Given the description of an element on the screen output the (x, y) to click on. 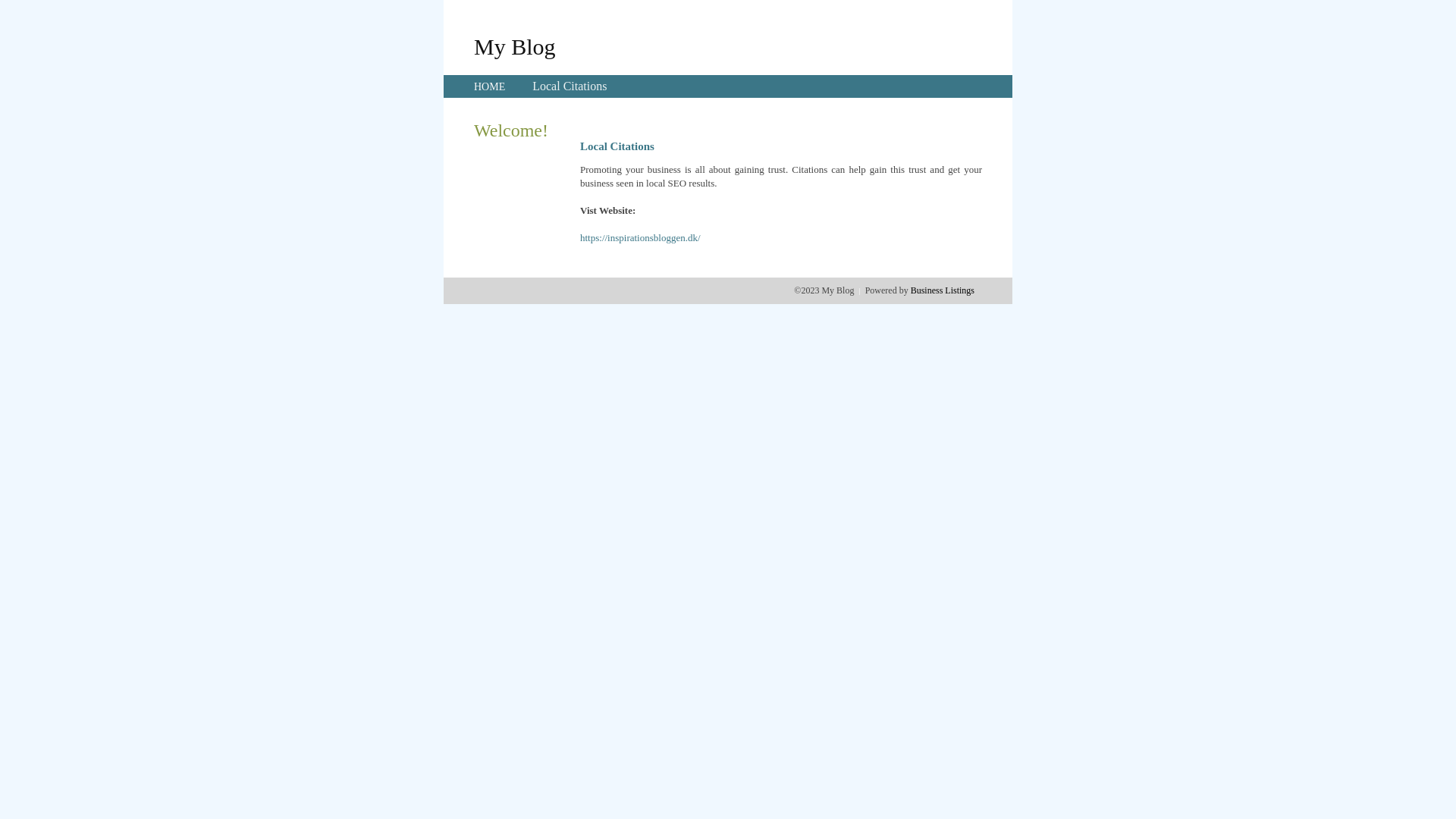
My Blog Element type: text (514, 46)
Local Citations Element type: text (569, 85)
https://inspirationsbloggen.dk/ Element type: text (640, 237)
HOME Element type: text (489, 86)
Business Listings Element type: text (942, 290)
